Given the description of an element on the screen output the (x, y) to click on. 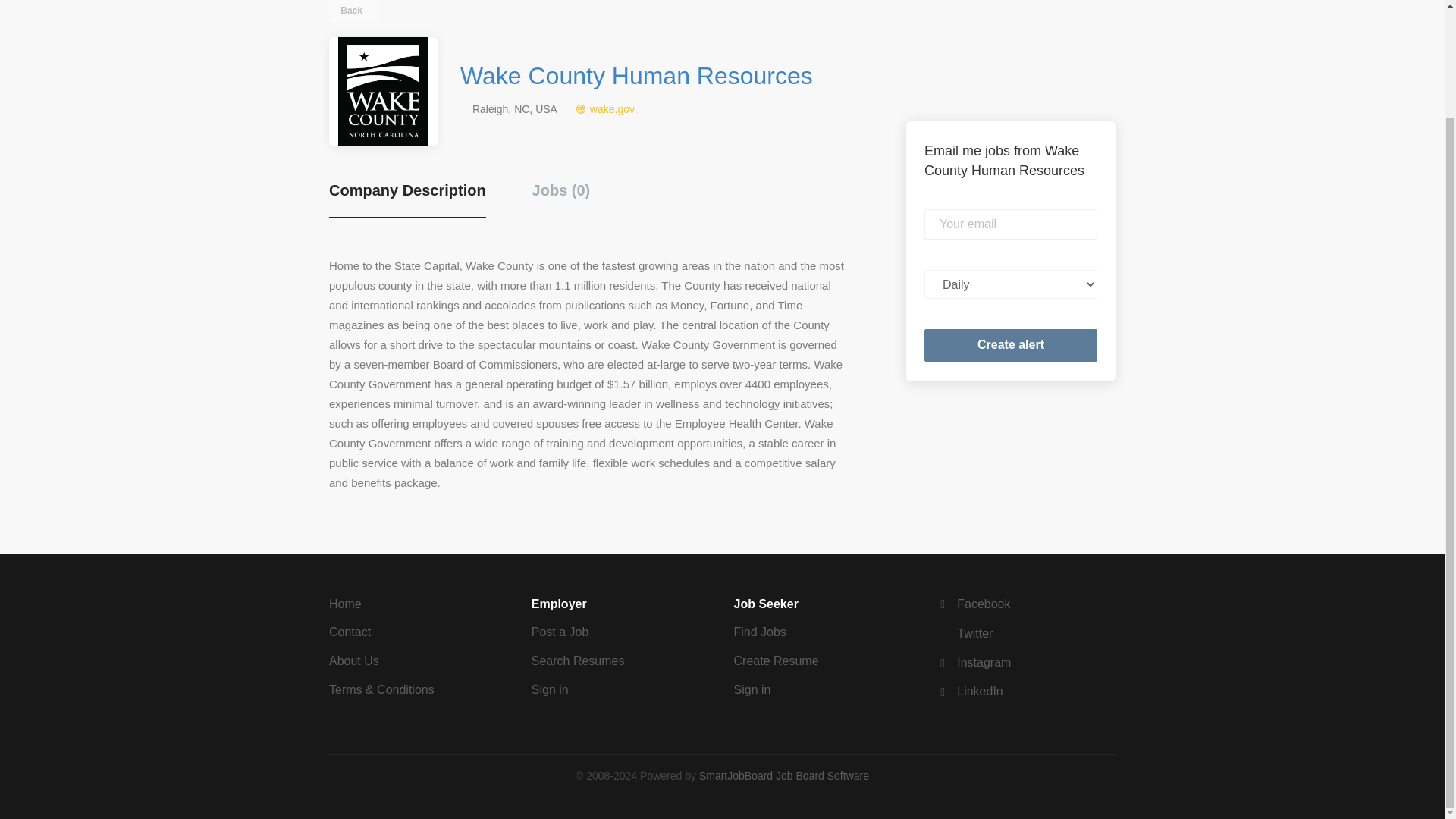
Twitter (964, 633)
Sign in (752, 689)
SmartJobBoard Job Board Software (783, 775)
Post a Job (560, 631)
Job Board Software, Script (783, 775)
LinkedIn (969, 690)
Instagram (973, 662)
Create alert (1010, 345)
Create alert (1010, 345)
Facebook (973, 603)
